Given the description of an element on the screen output the (x, y) to click on. 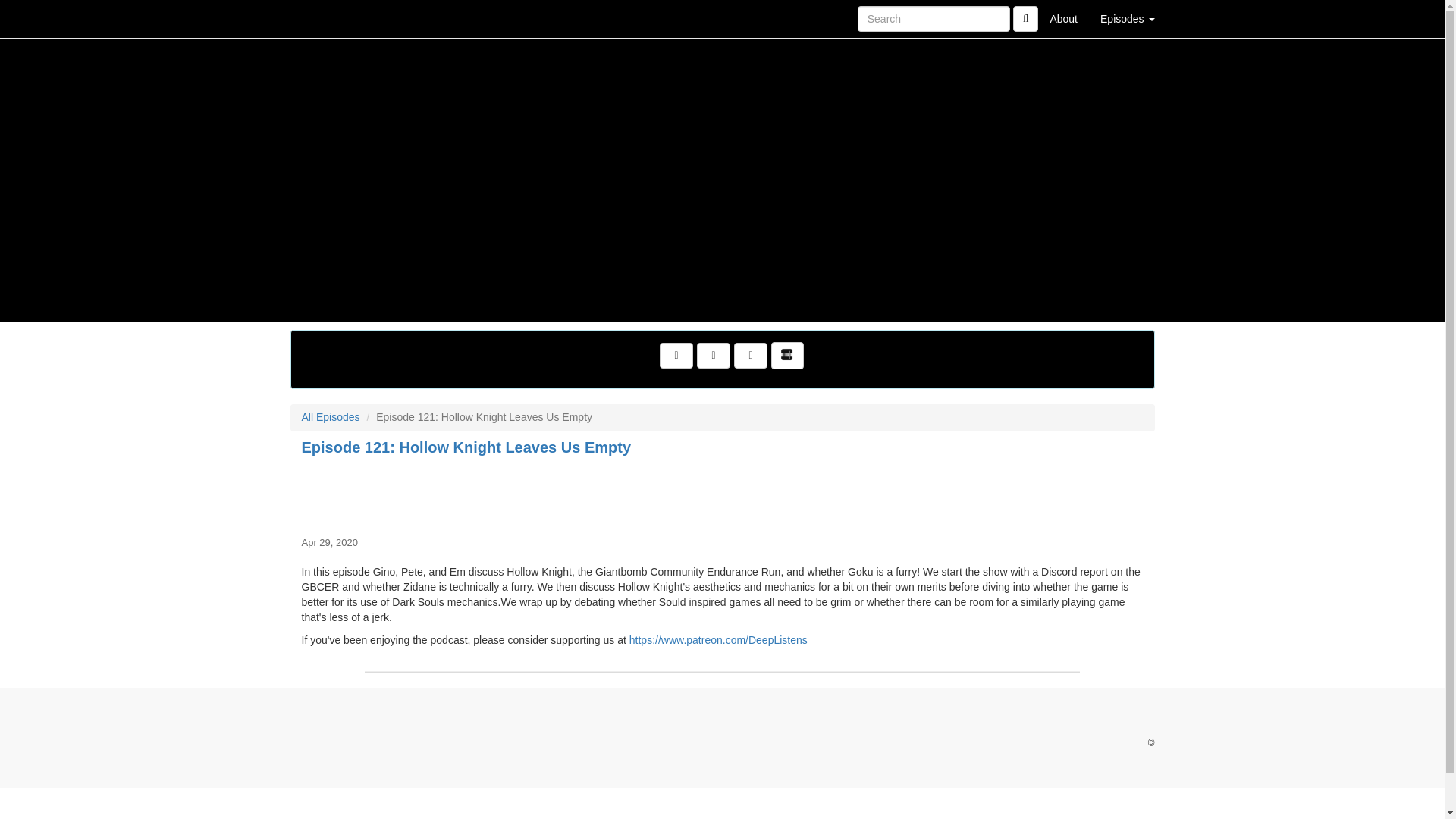
Episodes (1127, 18)
Episode 121: Hollow Knight Leaves Us Empty (721, 493)
About (1063, 18)
Visit Us on Twitter (676, 355)
Subscribe to RSS Feed (713, 355)
Listen on Apple Podcasts (750, 355)
Home Page (320, 18)
Listen on Stitcher (787, 355)
